Given the description of an element on the screen output the (x, y) to click on. 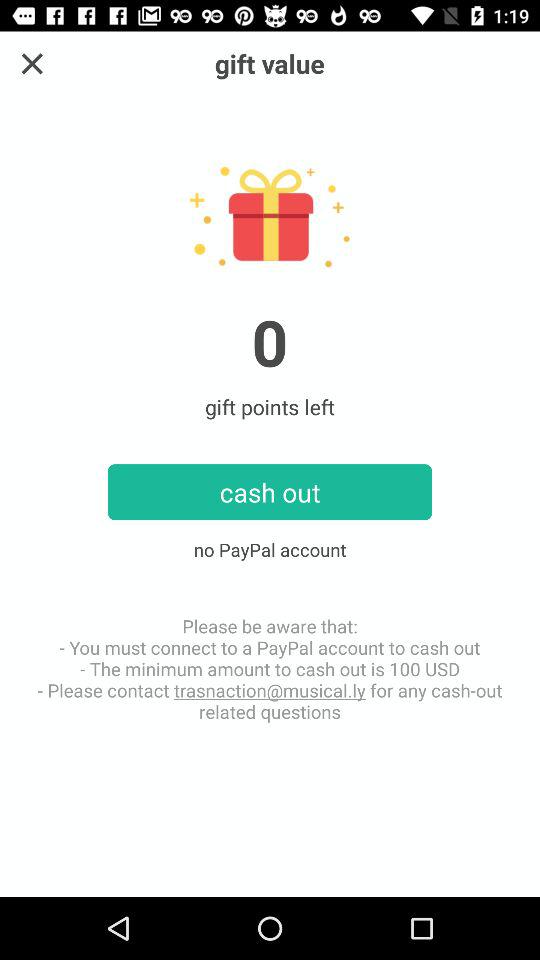
tap the icon next to gift value item (32, 63)
